Given the description of an element on the screen output the (x, y) to click on. 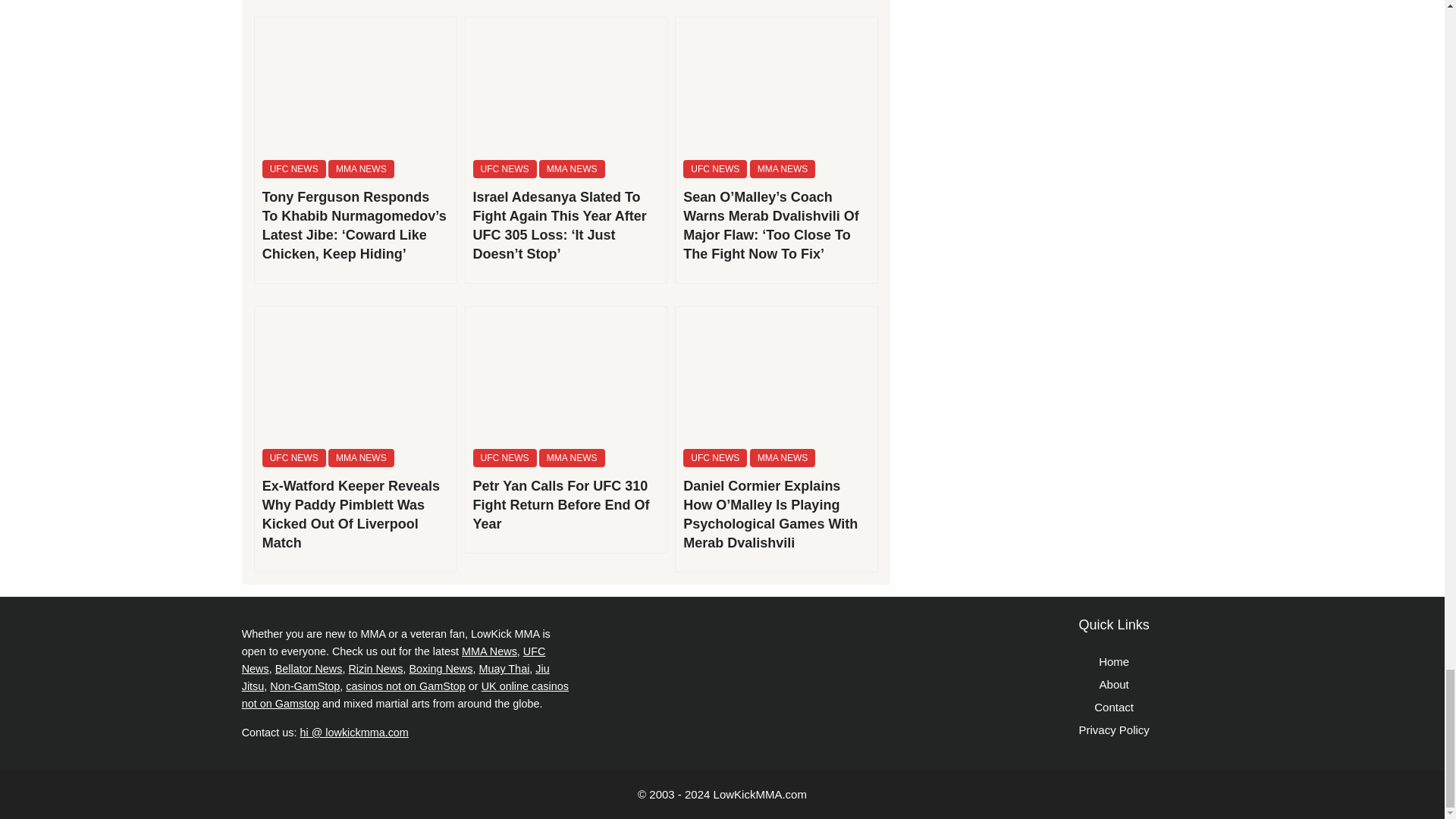
Petr Yan calls for UFC 310 fight return before end of year 6 (565, 374)
